Given the description of an element on the screen output the (x, y) to click on. 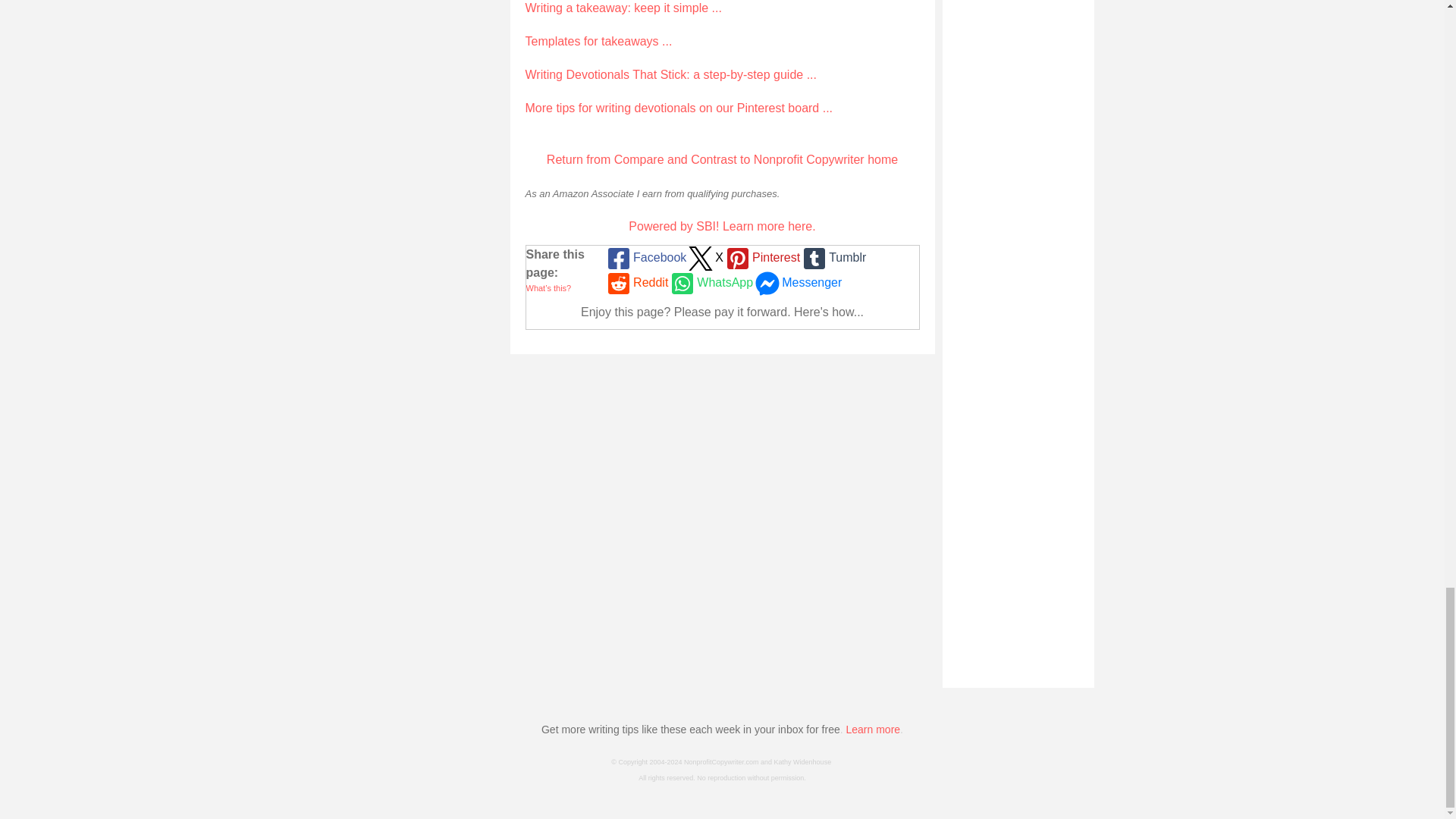
WhatsApp (710, 283)
Pinterest (761, 258)
Messenger (796, 283)
Reddit (636, 283)
Writing a takeaway: keep it simple ... (622, 7)
Templates for takeaways ... (597, 41)
Tumblr (832, 258)
Powered by SBI! Learn more here. (721, 226)
X (704, 258)
Writing Devotionals That Stick: a step-by-step guide ... (669, 74)
